Given the description of an element on the screen output the (x, y) to click on. 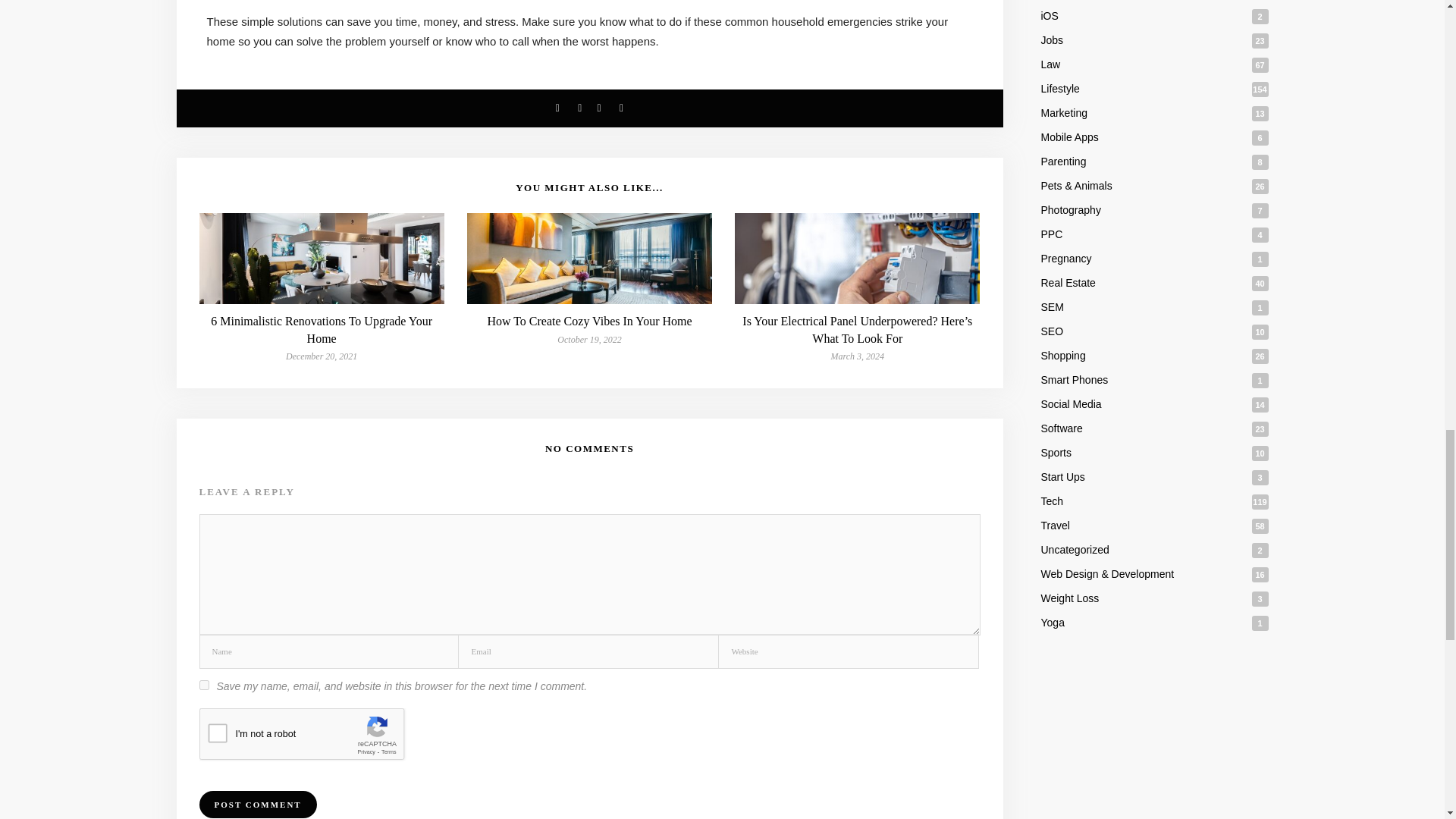
Post Comment (256, 804)
yes (203, 685)
reCAPTCHA (313, 737)
